Given the description of an element on the screen output the (x, y) to click on. 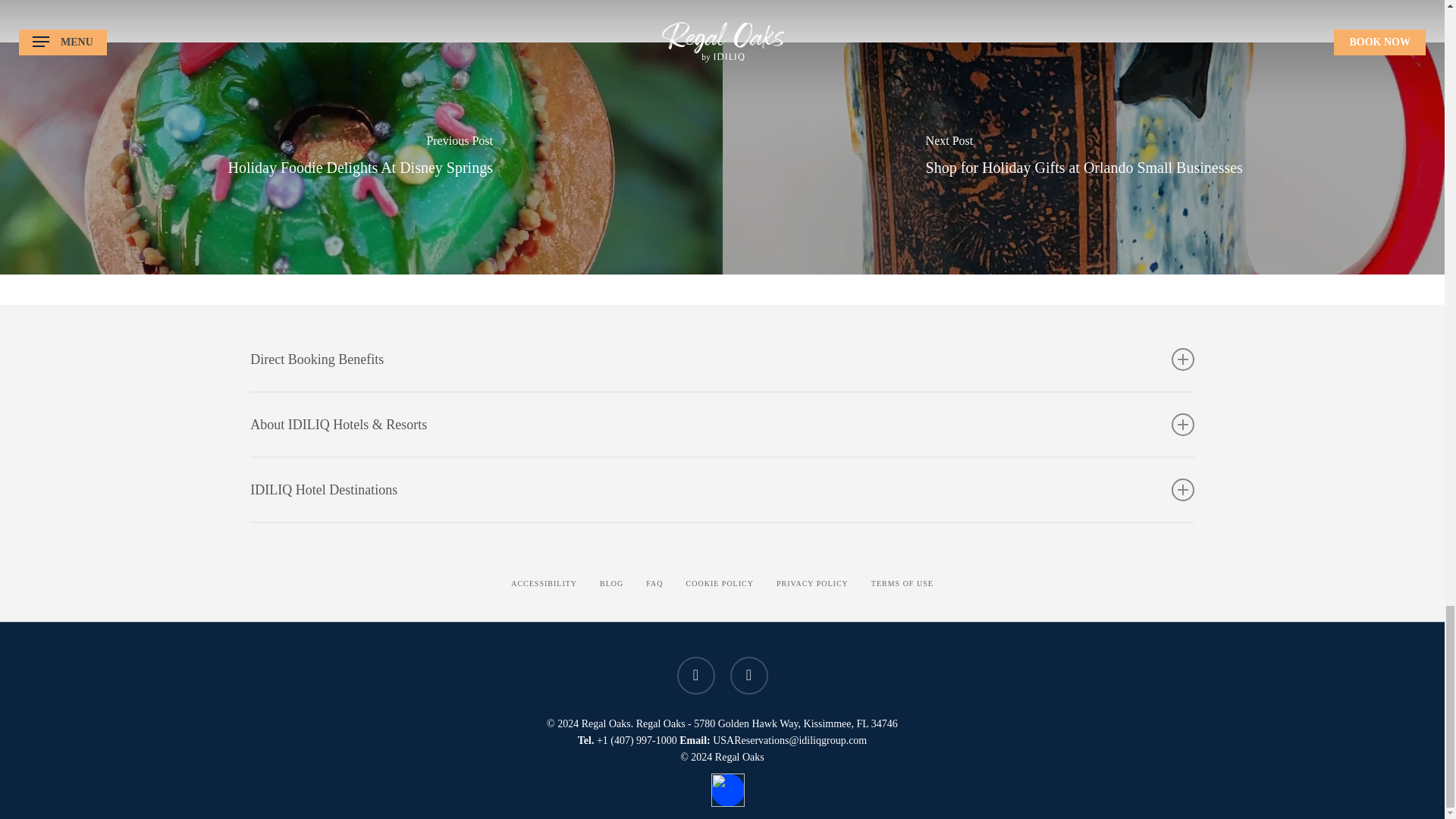
facebook (695, 675)
Direct Booking Benefits (721, 359)
TERMS OF USE (901, 583)
COOKIE POLICY (719, 583)
BLOG (611, 583)
instagram (748, 675)
PRIVACY POLICY (812, 583)
IDILIQ Hotel Destinations (721, 489)
FAQ (654, 583)
ACCESSIBILITY (543, 583)
